Given the description of an element on the screen output the (x, y) to click on. 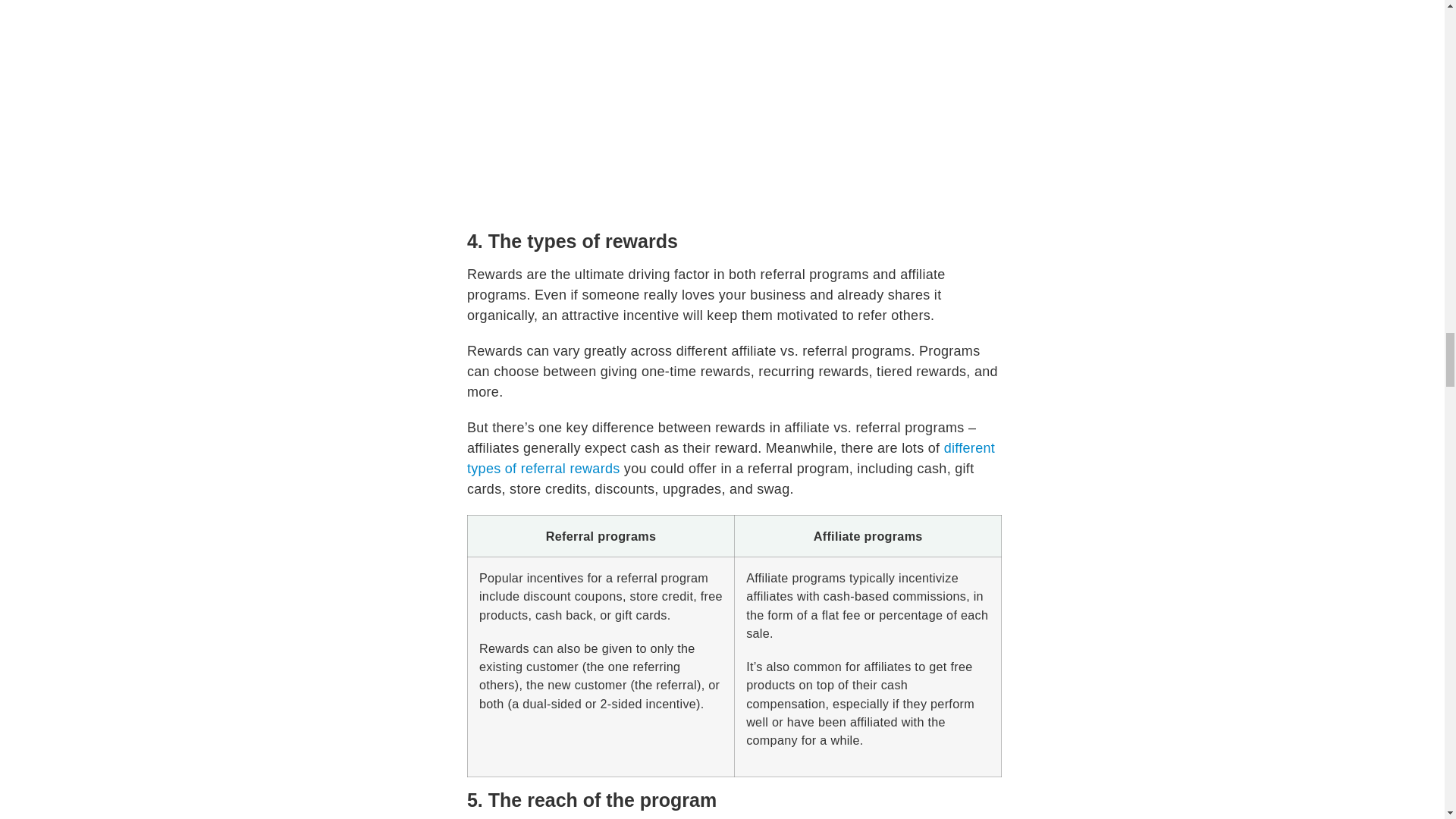
Affiliate Marketing Vs. Referral Marketing: How to Choose? 4 (734, 90)
